Given the description of an element on the screen output the (x, y) to click on. 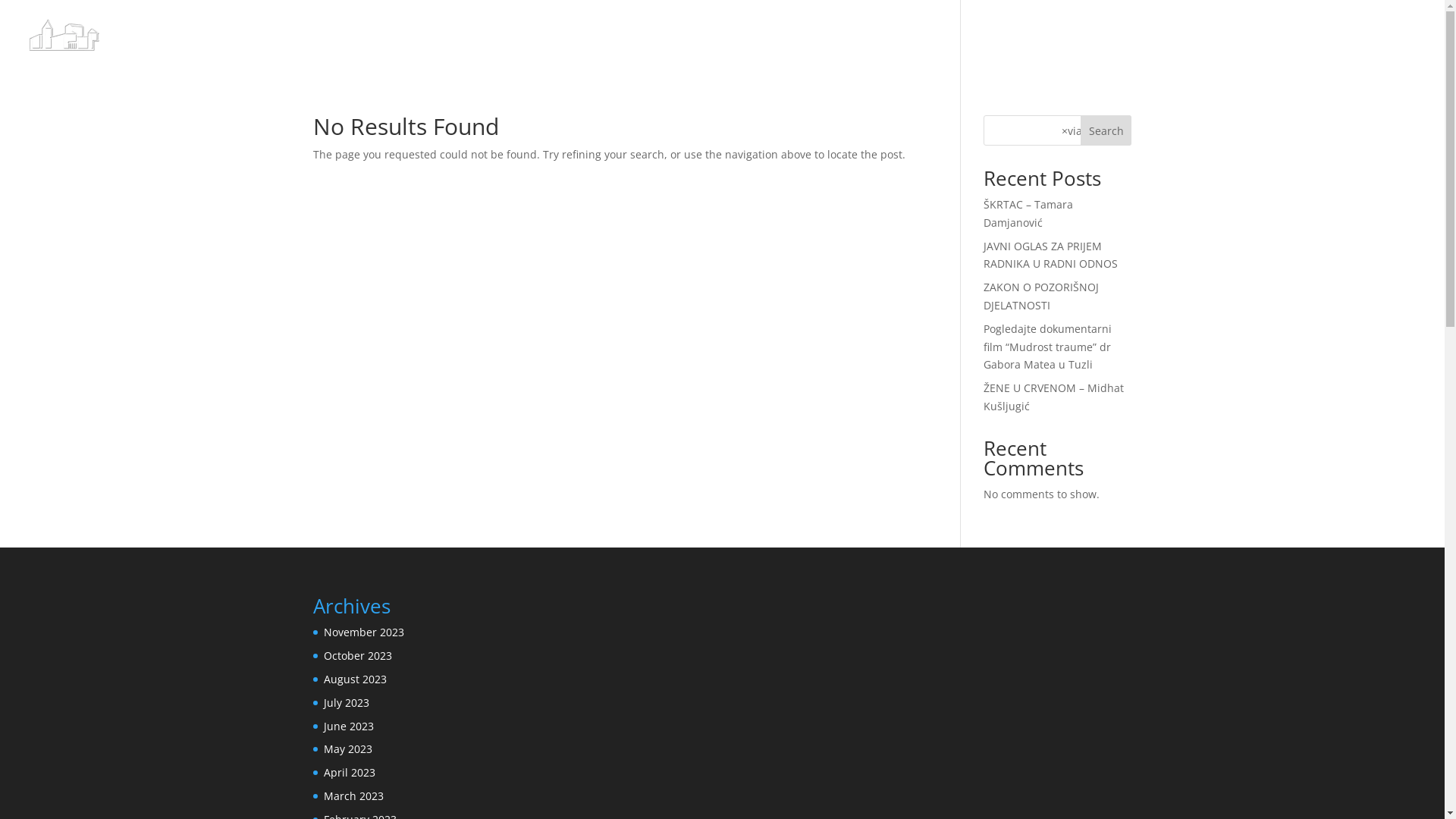
August 2023 Element type: text (354, 678)
April 2023 Element type: text (348, 772)
March 2023 Element type: text (352, 795)
JAVNI OGLAS ZA PRIJEM RADNIKA U RADNI ODNOS Element type: text (1050, 254)
October 2023 Element type: text (357, 655)
July 2023 Element type: text (345, 702)
May 2023 Element type: text (347, 748)
November 2023 Element type: text (363, 631)
June 2023 Element type: text (348, 725)
Search Element type: text (1106, 130)
